Given the description of an element on the screen output the (x, y) to click on. 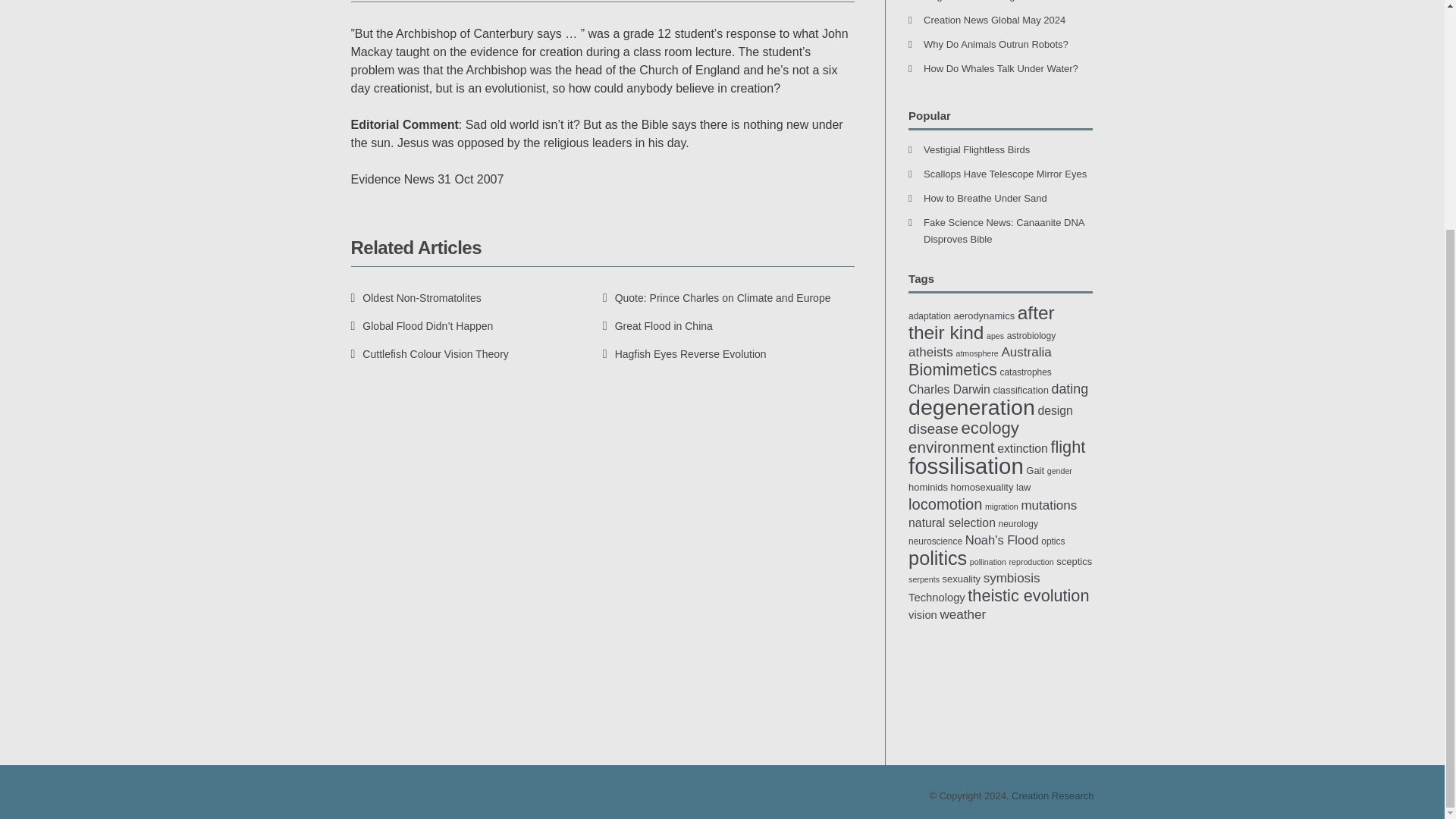
atheists (930, 351)
Quote: Prince Charles on Climate and Europe (716, 297)
after their kind (981, 322)
Cuttlefish Colour Vision Theory (429, 354)
apes (995, 335)
Creation News Global May 2024 (994, 19)
Biomimetics (952, 369)
Cuttlefish Colour Vision Theory (429, 354)
classification (1020, 389)
Great Flood in China (657, 326)
Scallops Have Telescope Mirror Eyes (1004, 173)
How to Breathe Under Sand (984, 197)
Quote: Prince Charles on Climate and Europe (716, 297)
adaptation (929, 316)
Oldest Non-Stromatolites (415, 297)
